Given the description of an element on the screen output the (x, y) to click on. 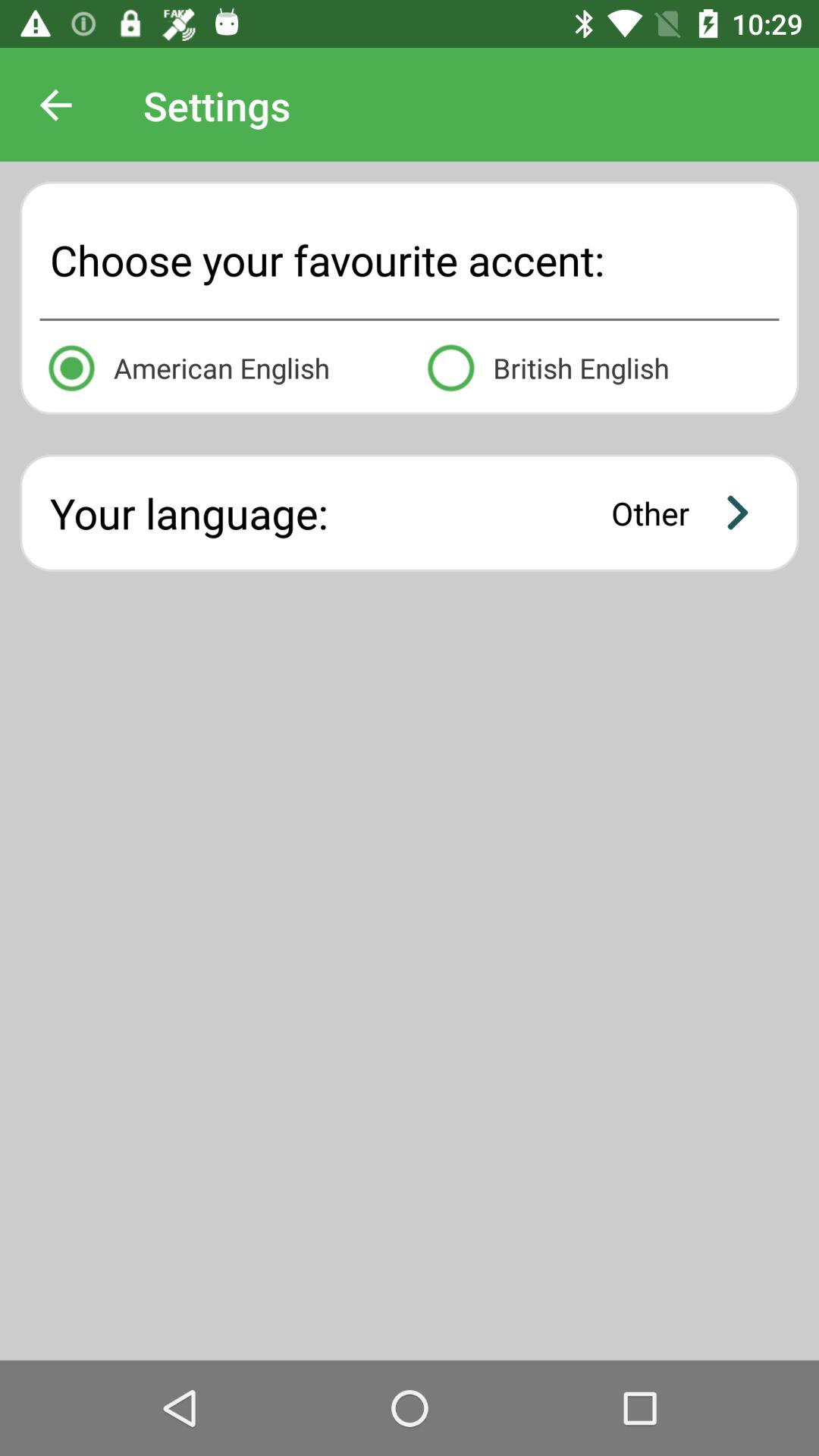
tap the american english item (219, 365)
